Given the description of an element on the screen output the (x, y) to click on. 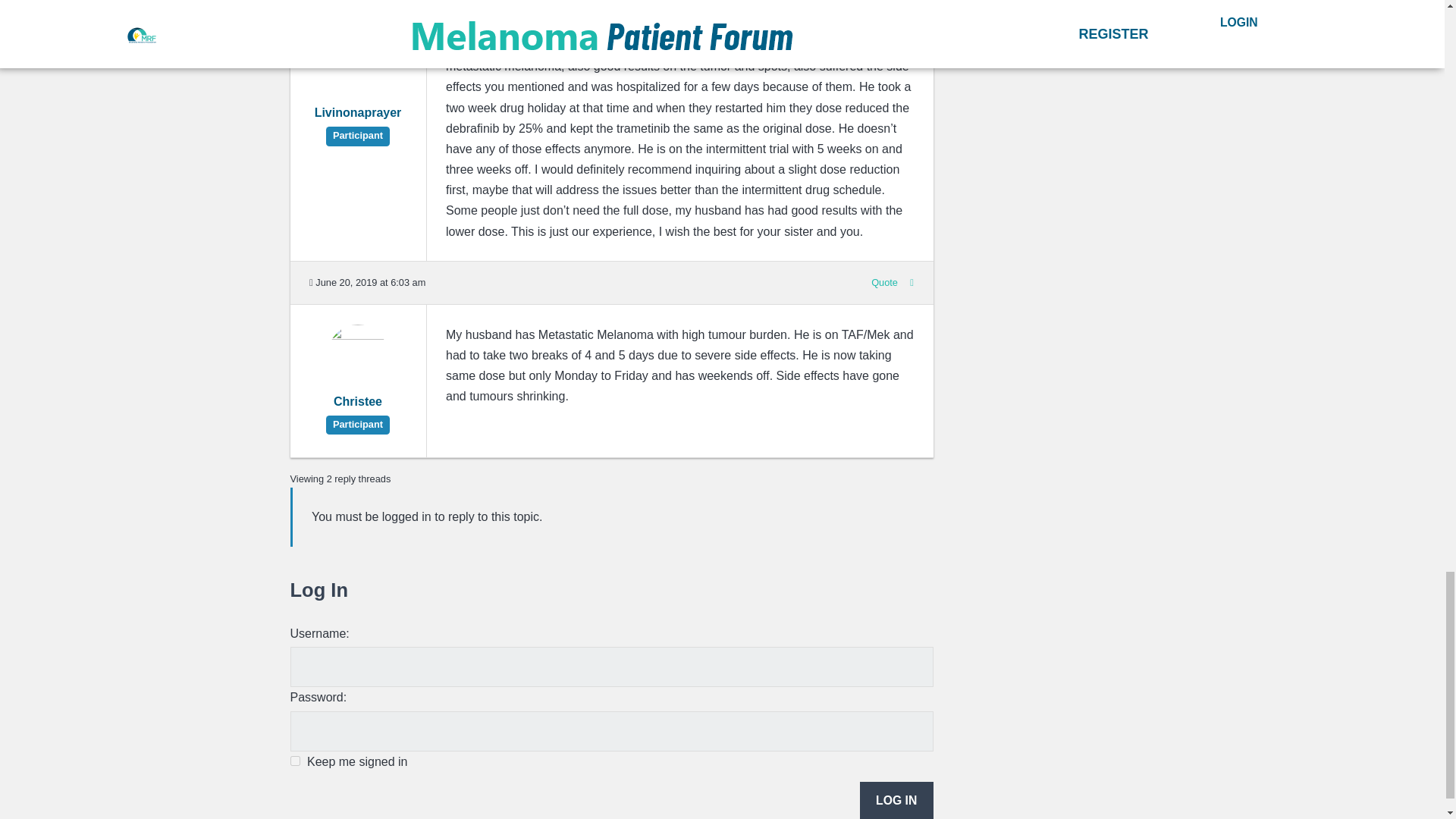
forever (294, 760)
